Given the description of an element on the screen output the (x, y) to click on. 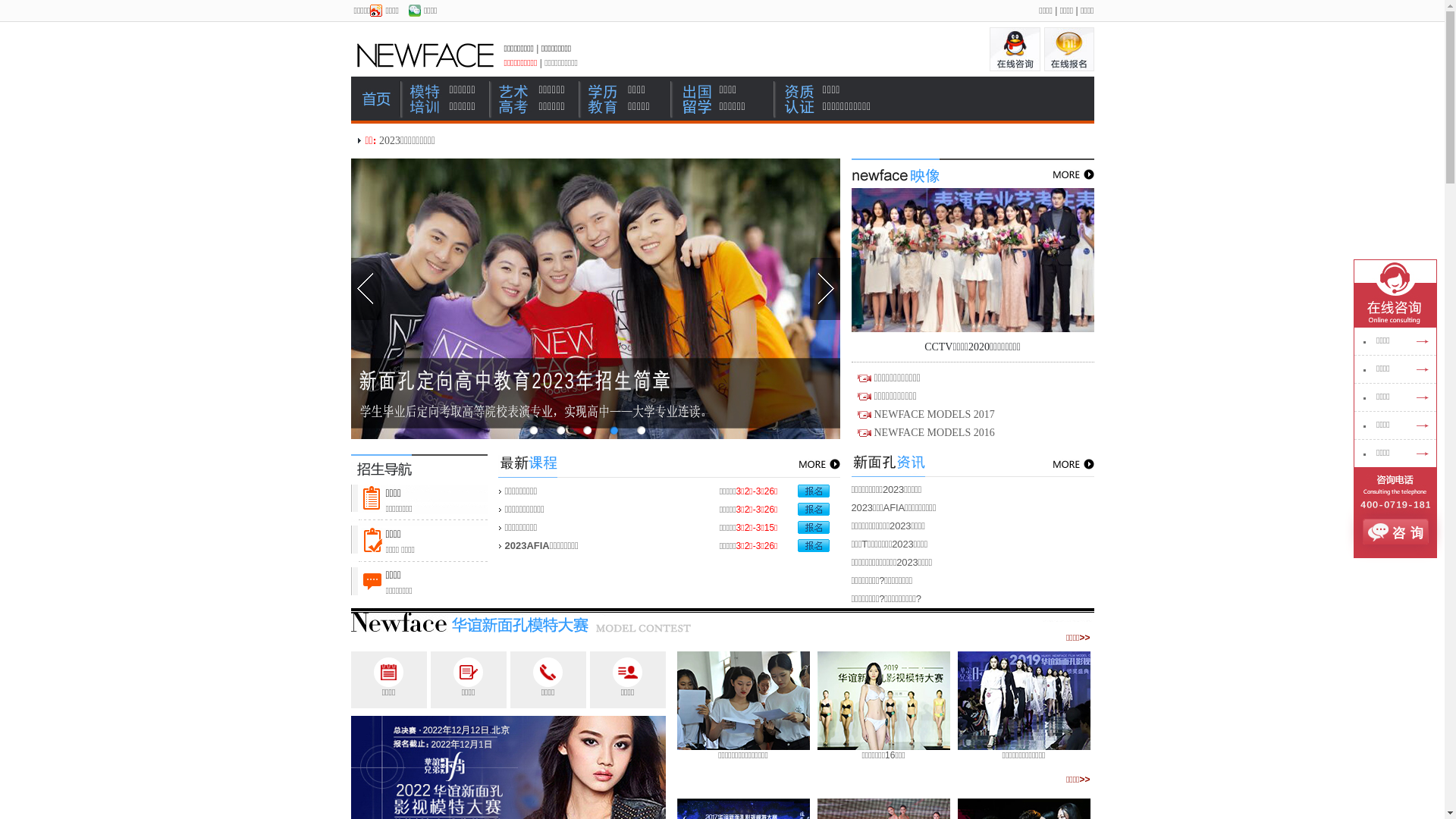
NEWFACE MODELS 2017 Element type: text (933, 414)
NEWFACE MODELS 2016 Element type: text (933, 432)
